Given the description of an element on the screen output the (x, y) to click on. 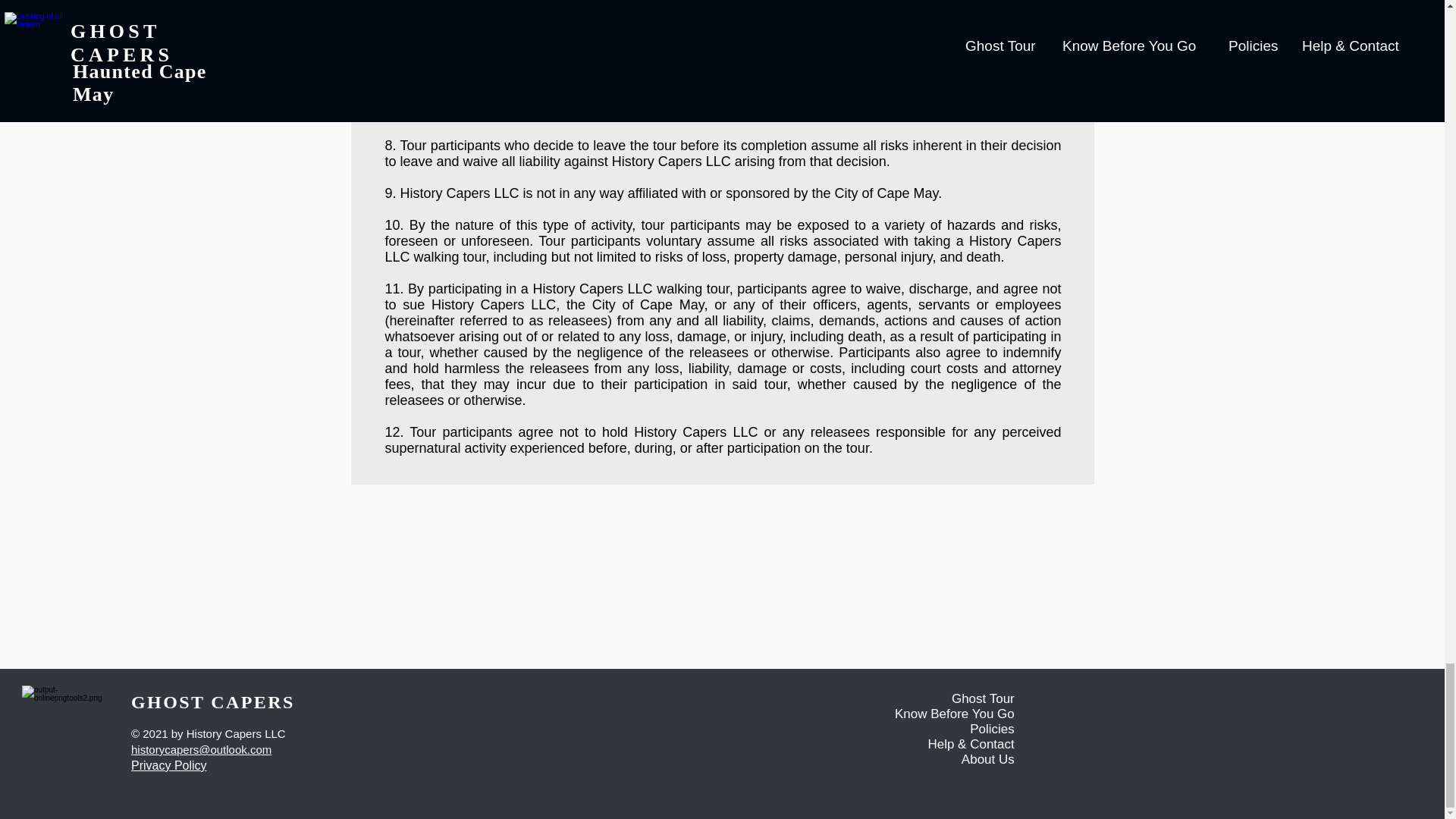
Privacy Policy (168, 765)
About Us (987, 759)
Ghost Tour (983, 698)
Policies (991, 728)
Know Before You Go (954, 713)
